Given the description of an element on the screen output the (x, y) to click on. 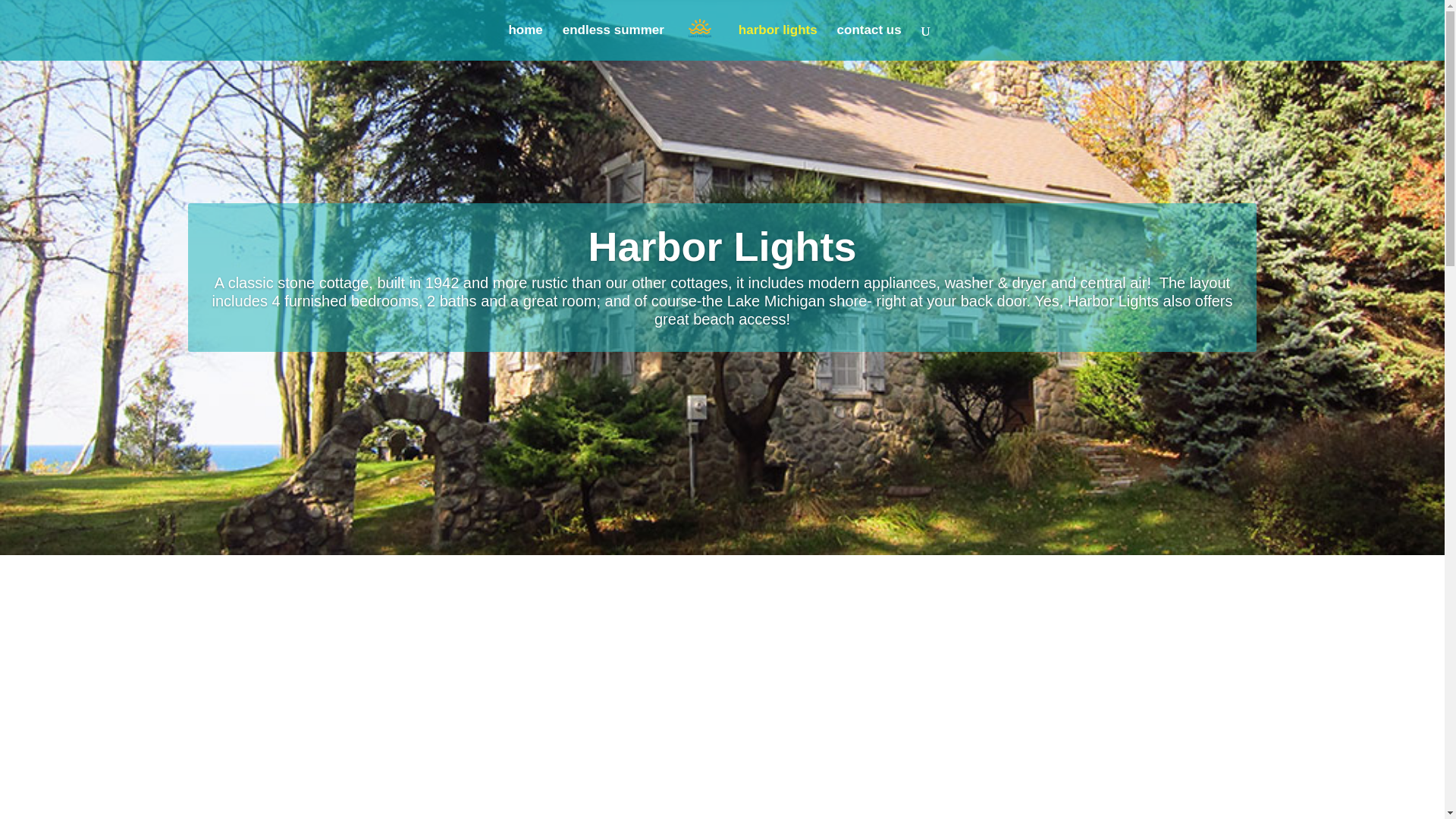
home (524, 42)
contact us (869, 42)
endless summer (612, 42)
harbor lights (777, 42)
